Given the description of an element on the screen output the (x, y) to click on. 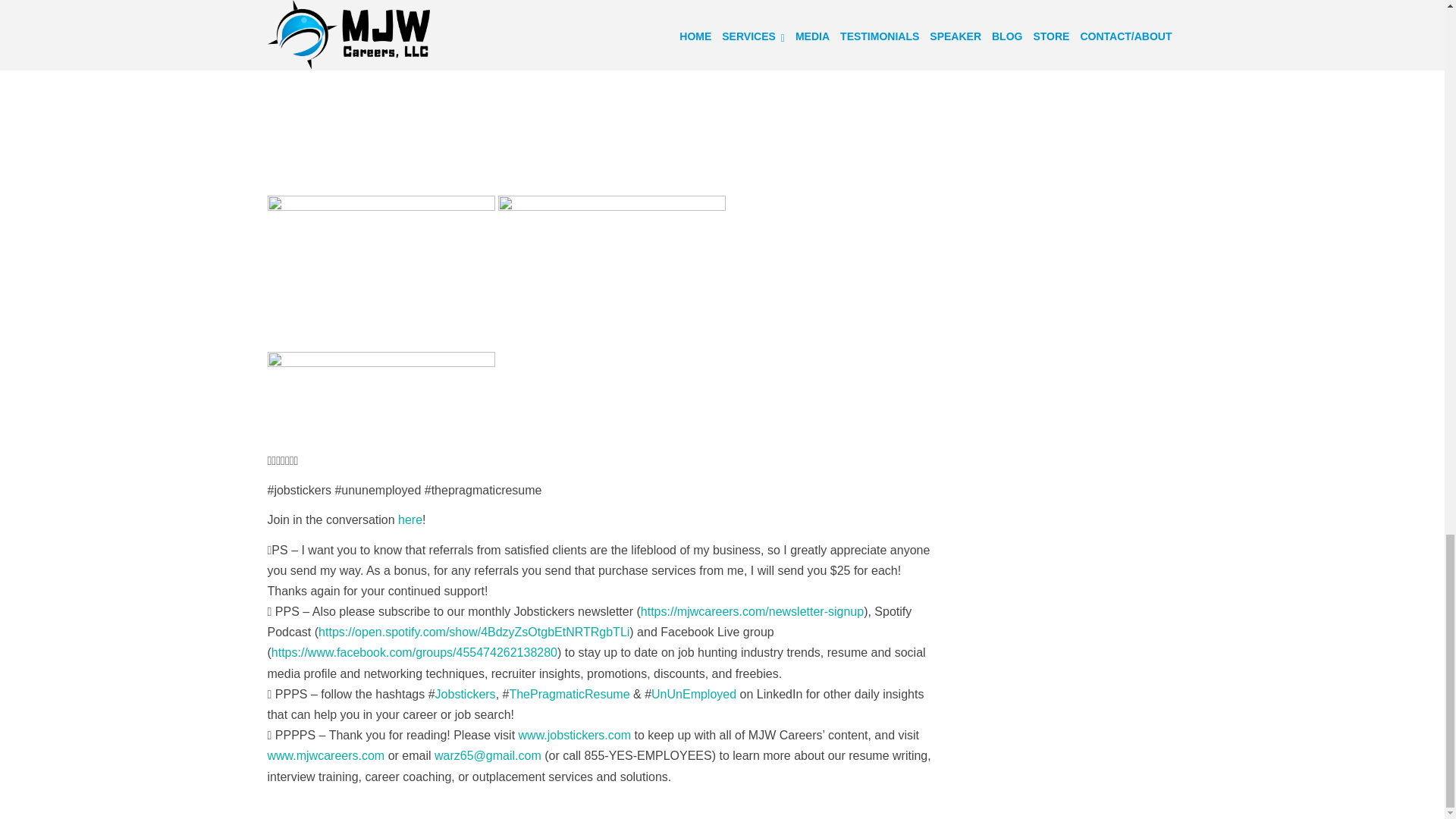
here (409, 519)
Jobstickers (465, 694)
ThePragmaticResume (568, 694)
www.jobstickers.com (574, 735)
UnUnEmployed (693, 694)
